Given the description of an element on the screen output the (x, y) to click on. 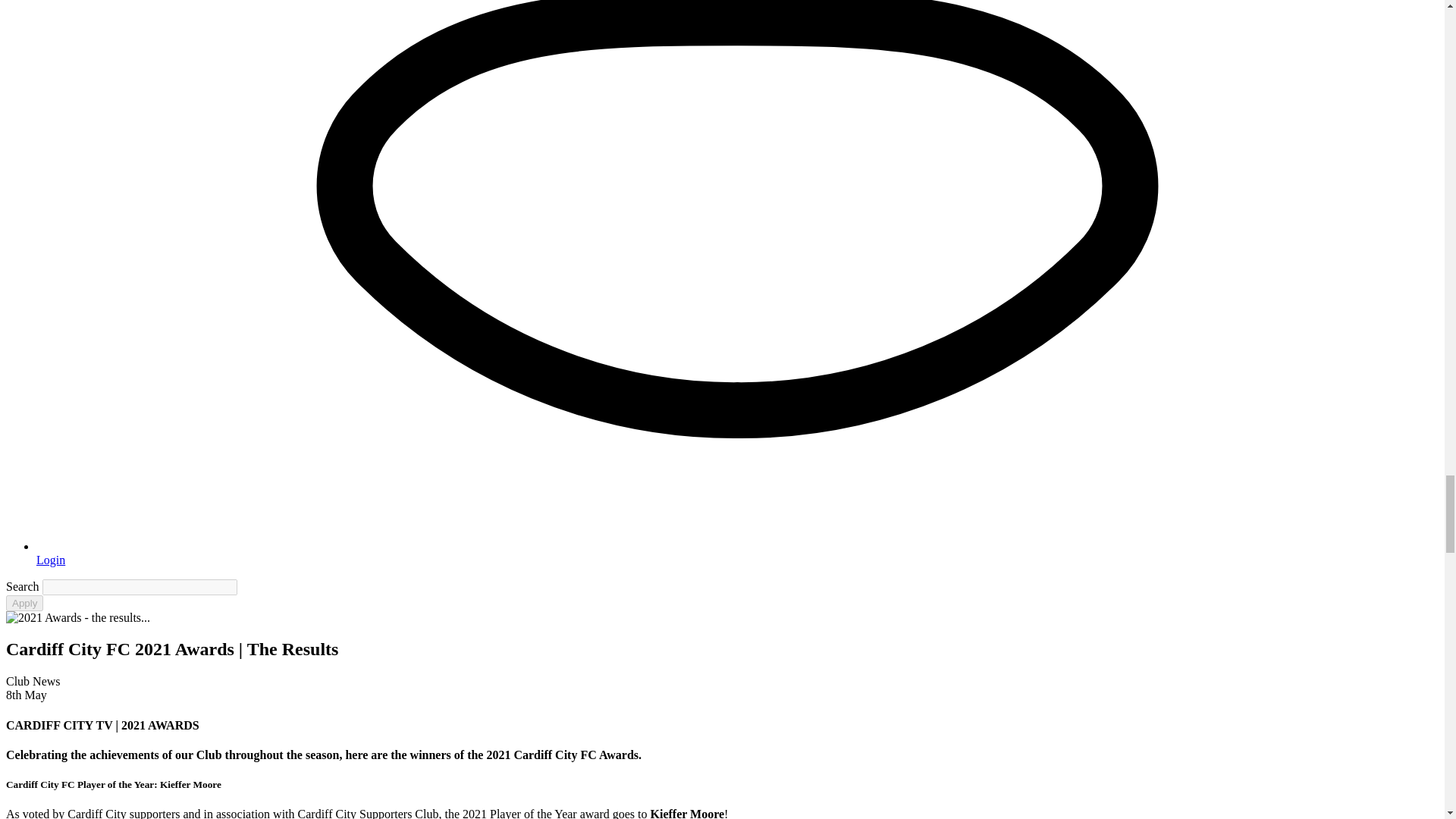
Apply (24, 602)
